Given the description of an element on the screen output the (x, y) to click on. 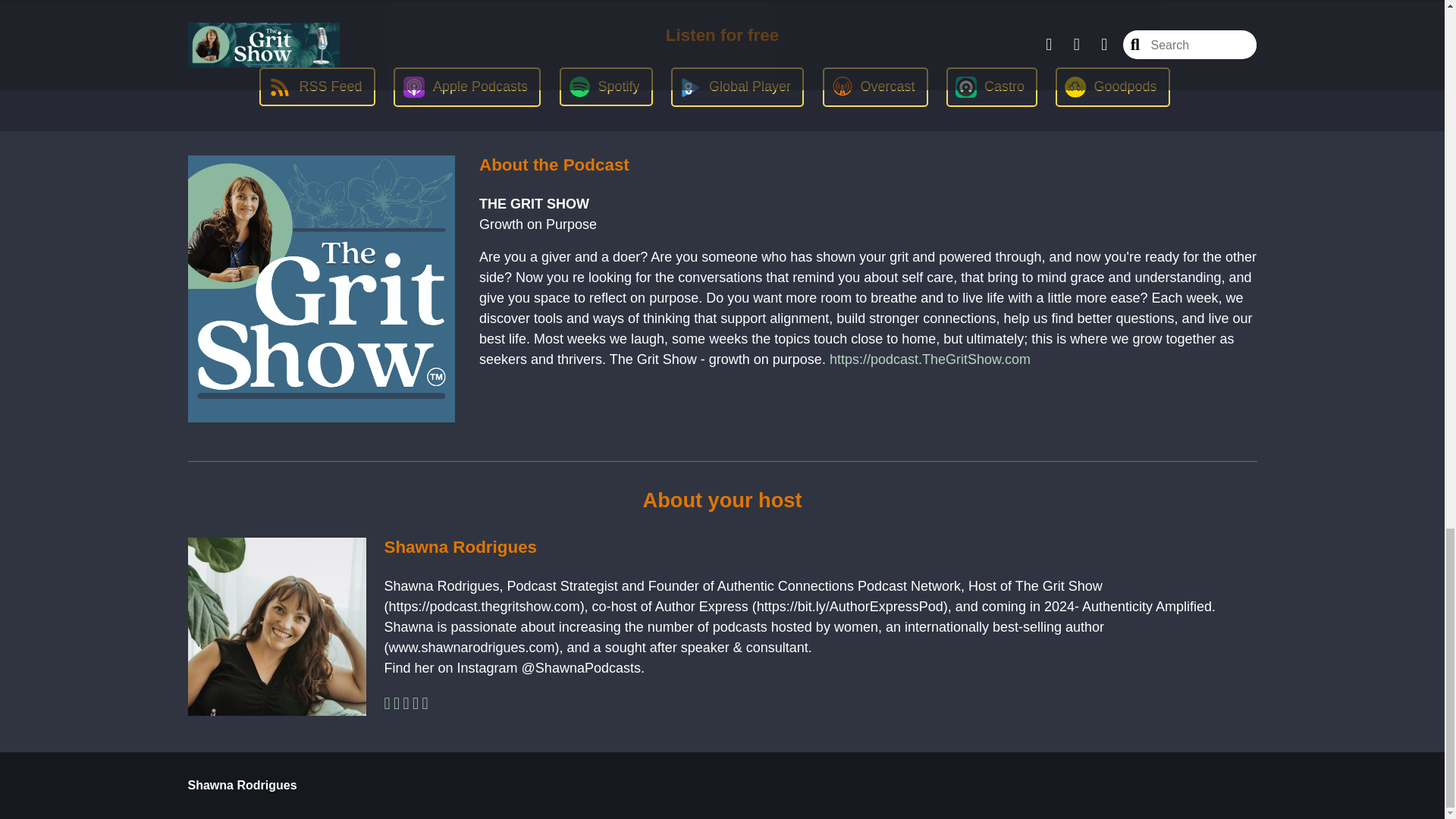
Apple Podcasts (466, 87)
Overcast (874, 87)
Castro (991, 87)
Spotify (605, 86)
Global Player (737, 87)
RSS Feed (316, 86)
Goodpods (1112, 87)
